Given the description of an element on the screen output the (x, y) to click on. 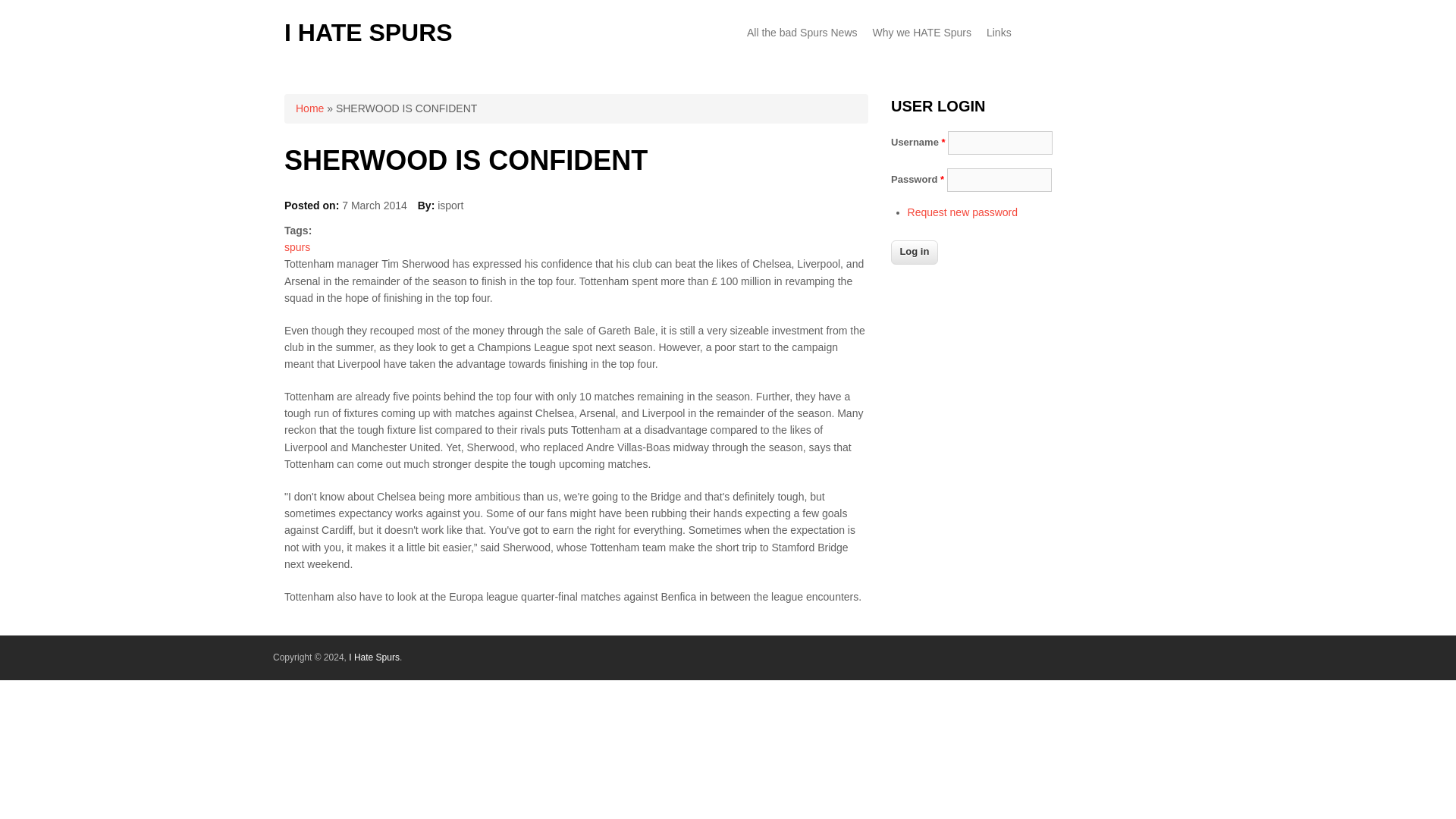
Home (309, 108)
Request new password (962, 212)
Request new password via e-mail. (962, 212)
Log in (914, 252)
All the bad Spurs News (801, 32)
Log in (914, 252)
I HATE SPURS (367, 31)
I Hate Spurs (373, 656)
spurs (296, 246)
Home (367, 31)
Why we HATE Spurs (921, 32)
Links (998, 32)
